Given the description of an element on the screen output the (x, y) to click on. 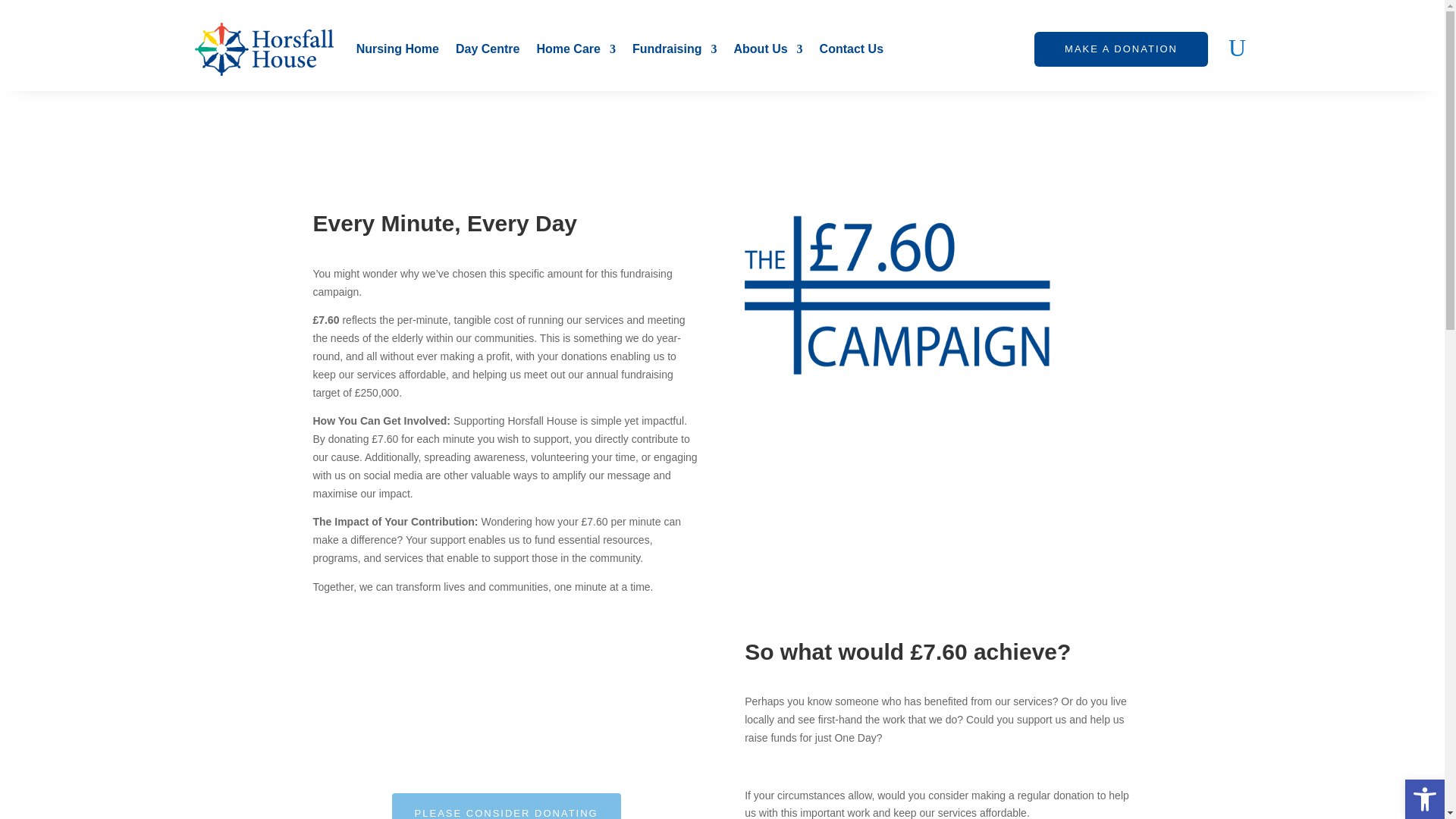
U (1237, 51)
It Costs Logo (898, 295)
Accessibility Tools (1424, 799)
Home Care (574, 48)
Day Centre (487, 48)
About Us (768, 48)
Nursing Home (397, 48)
Contact Us (851, 48)
Fundraising (674, 48)
MAKE A DONATION (1120, 48)
